Given the description of an element on the screen output the (x, y) to click on. 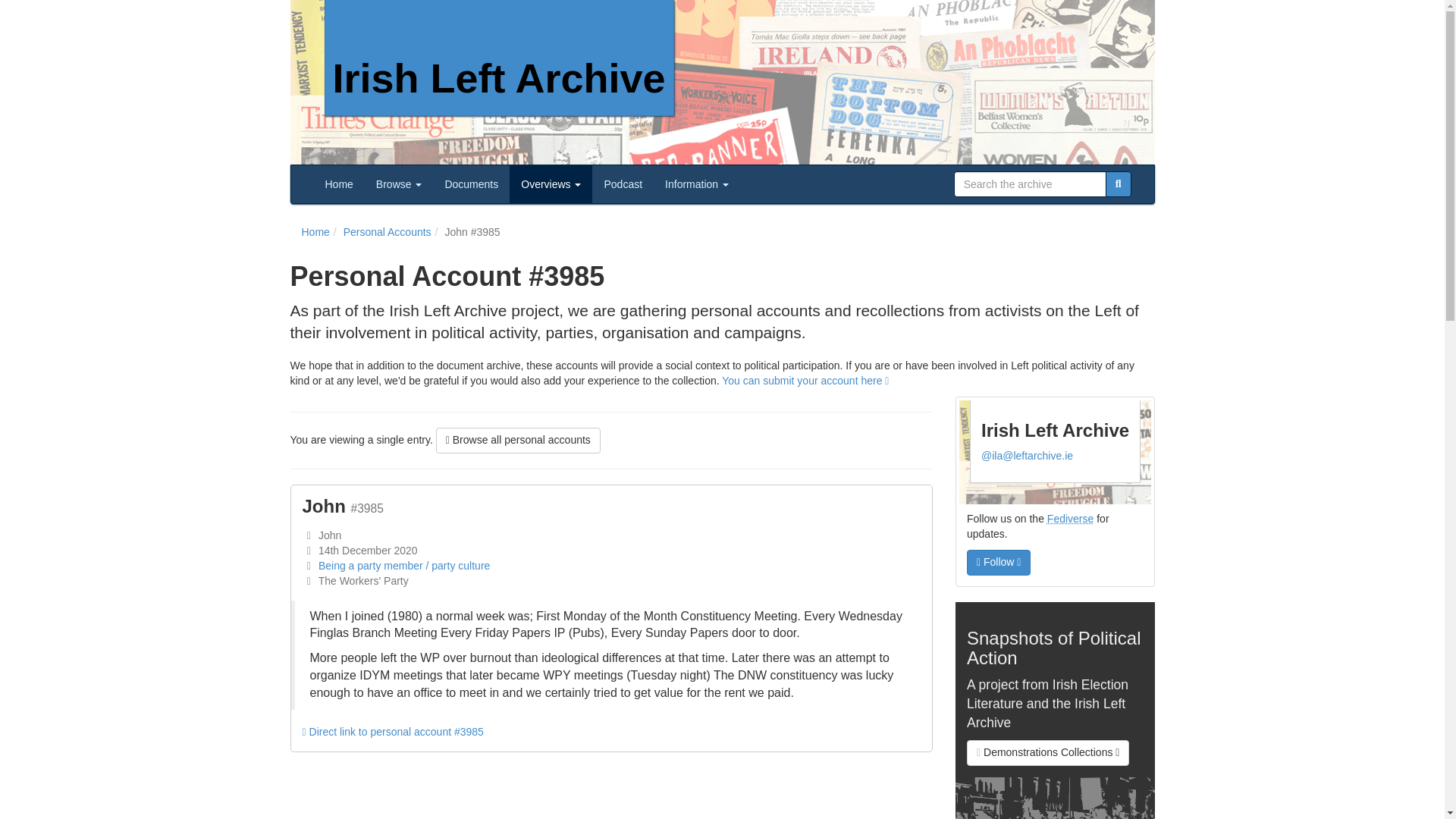
Information (696, 184)
Podcast (622, 184)
Overviews (550, 184)
Personal Accounts (386, 232)
Home (315, 232)
Home (339, 184)
You can submit your account here (805, 380)
Irish Left Archive (499, 58)
Documents (470, 184)
